Given the description of an element on the screen output the (x, y) to click on. 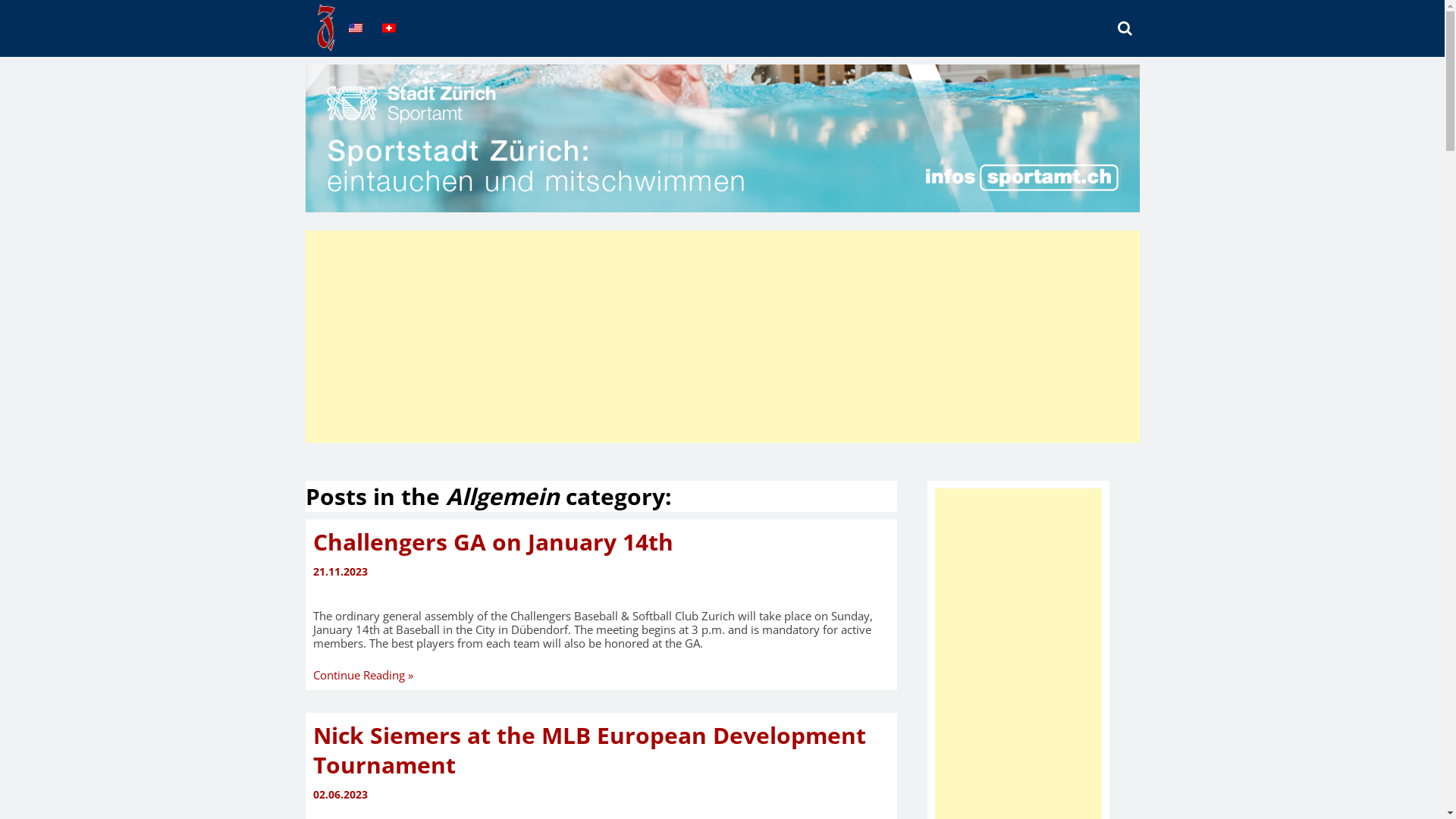
02.06.2023 Element type: text (600, 794)
21.11.2023 Element type: text (600, 571)
Challengers GA on January 14th Element type: text (492, 541)
Nick Siemers at the MLB European Development Tournament Element type: text (588, 749)
SEARCH Element type: text (1130, 32)
Advertisement Element type: hover (721, 336)
